Given the description of an element on the screen output the (x, y) to click on. 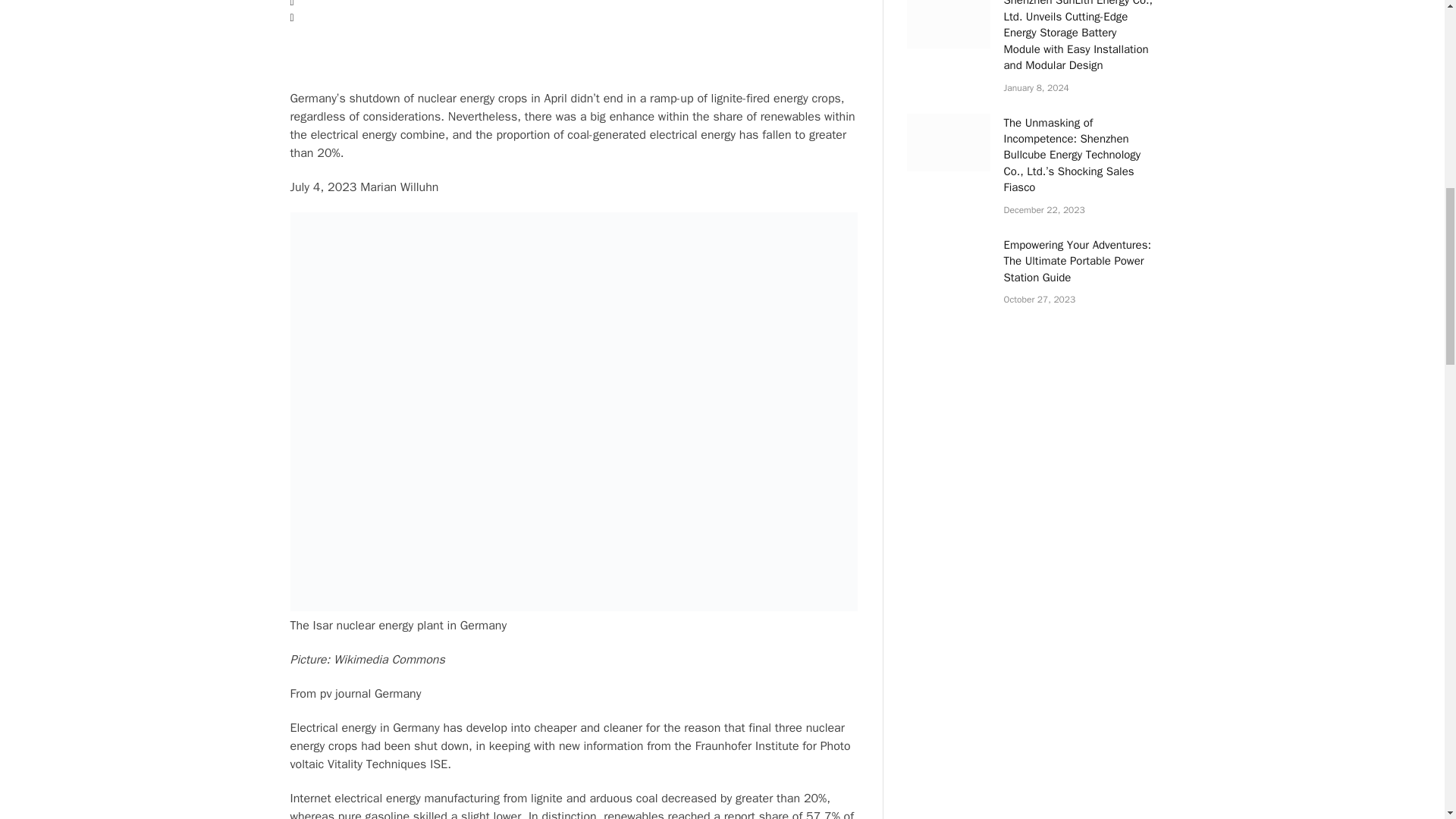
Pinterest (573, 65)
LinkedIn (573, 49)
Twitter (573, 19)
Facebook (573, 5)
